Given the description of an element on the screen output the (x, y) to click on. 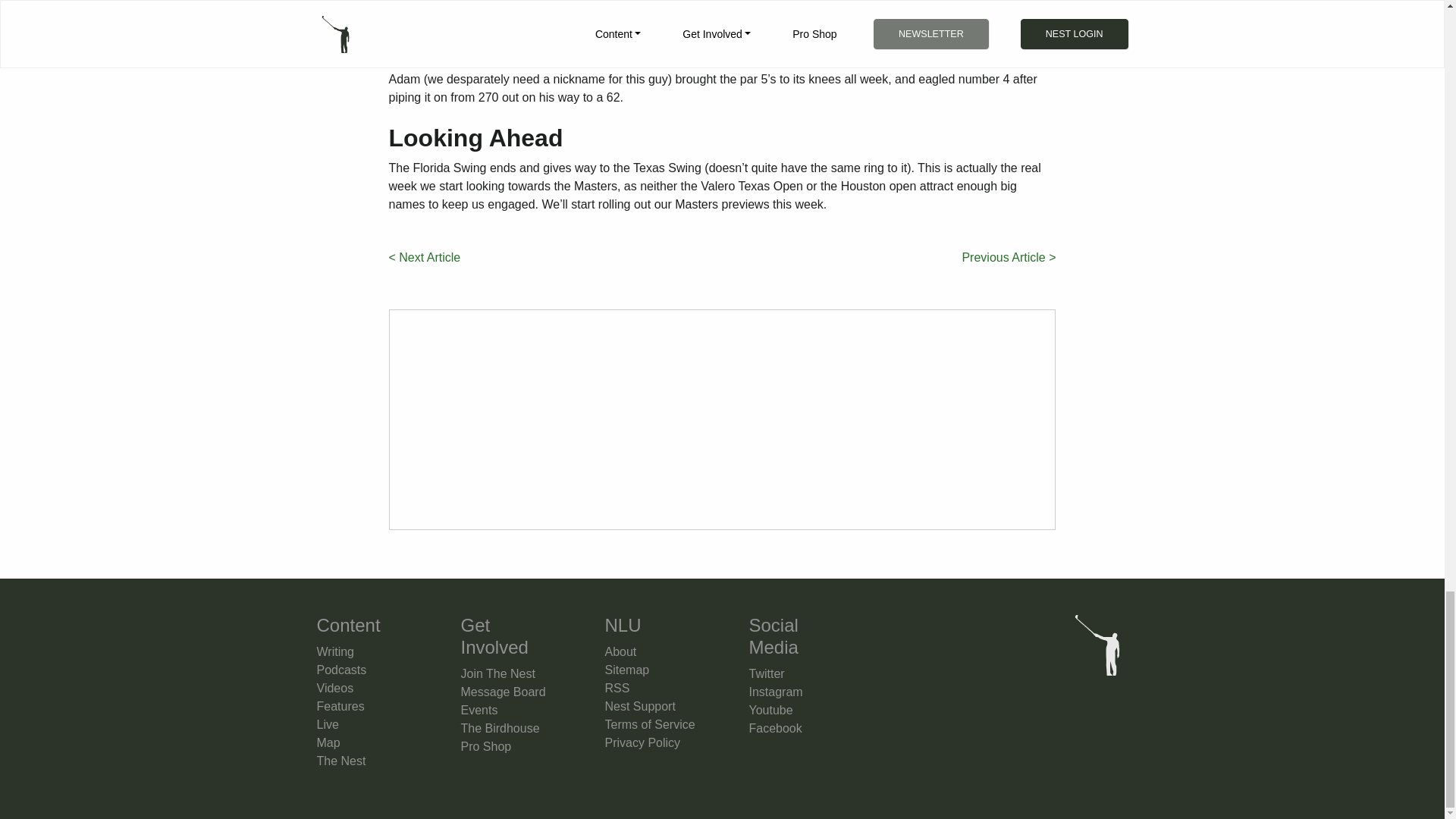
Features (341, 706)
The Nest (341, 760)
Map (328, 742)
Podcasts (341, 669)
Arnold Palmer Invitational Live Thread (1007, 257)
Videos (335, 687)
YOTTO Update (424, 257)
Writing (336, 651)
Live (328, 724)
